Given the description of an element on the screen output the (x, y) to click on. 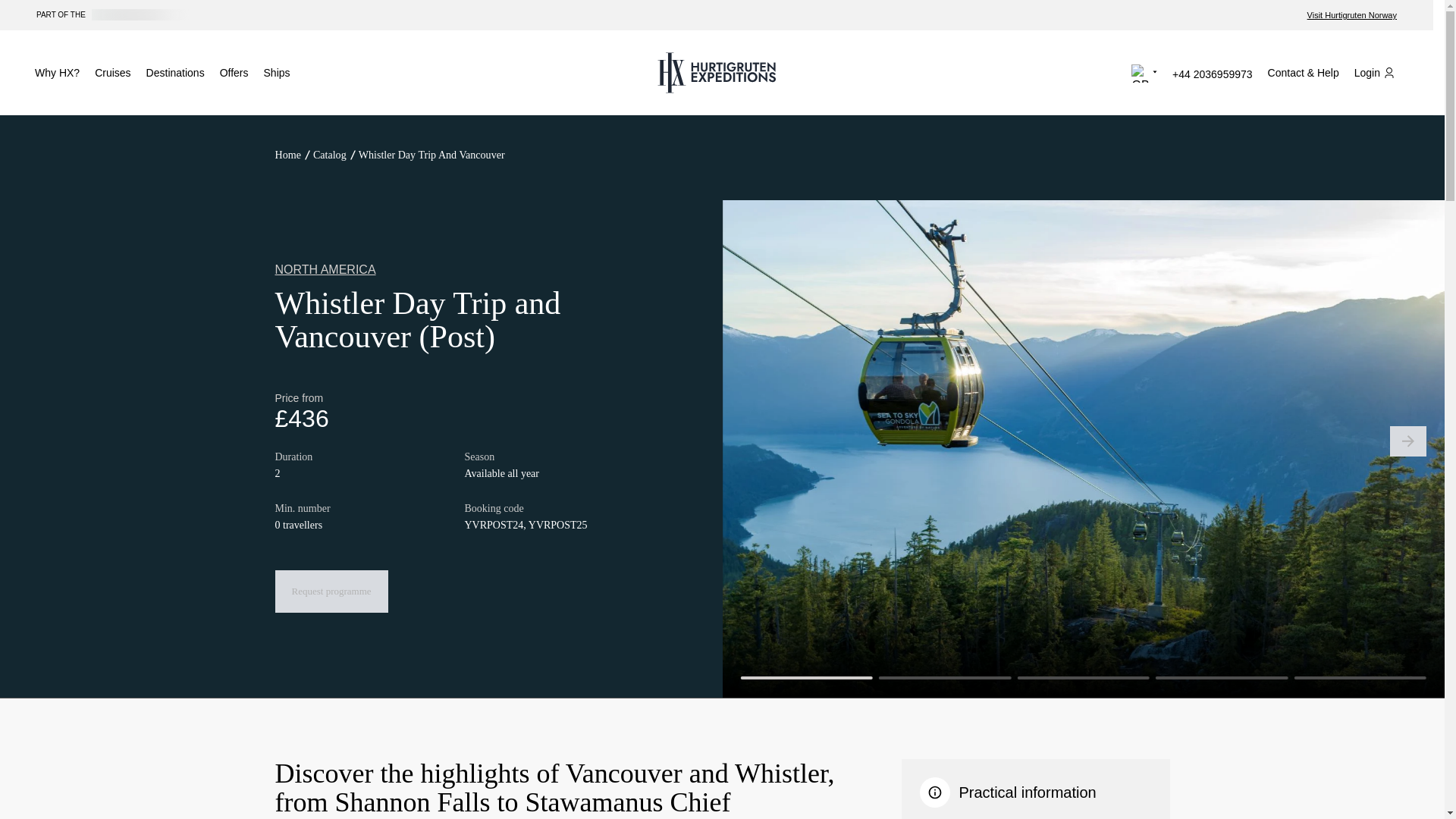
Visit Hurtigruten Norway (1351, 15)
